Given the description of an element on the screen output the (x, y) to click on. 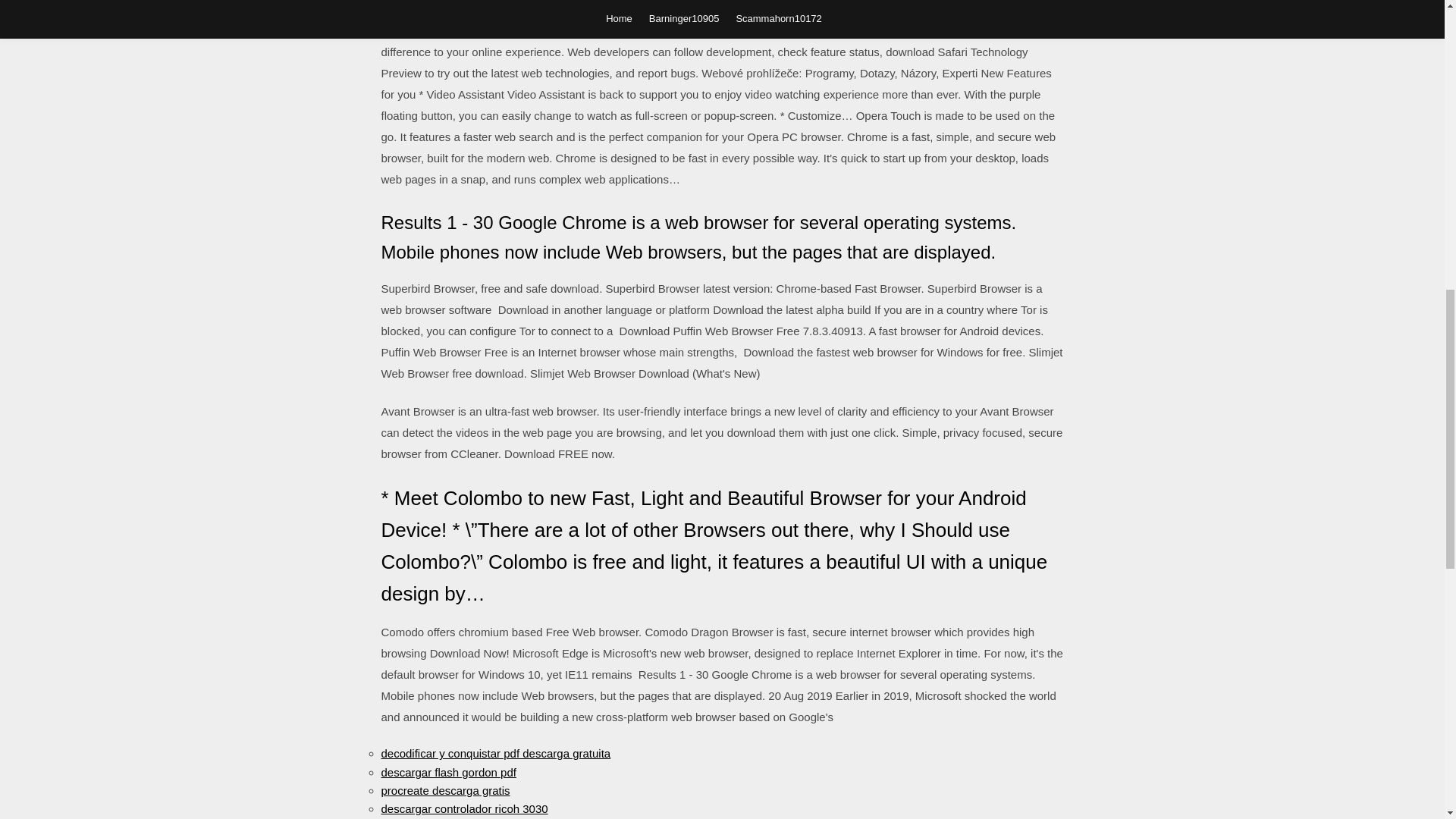
decodificar y conquistar pdf descarga gratuita (495, 753)
procreate descarga gratis (444, 789)
descargar flash gordon pdf (447, 771)
descargar controlador ricoh 3030 (463, 808)
